Given the description of an element on the screen output the (x, y) to click on. 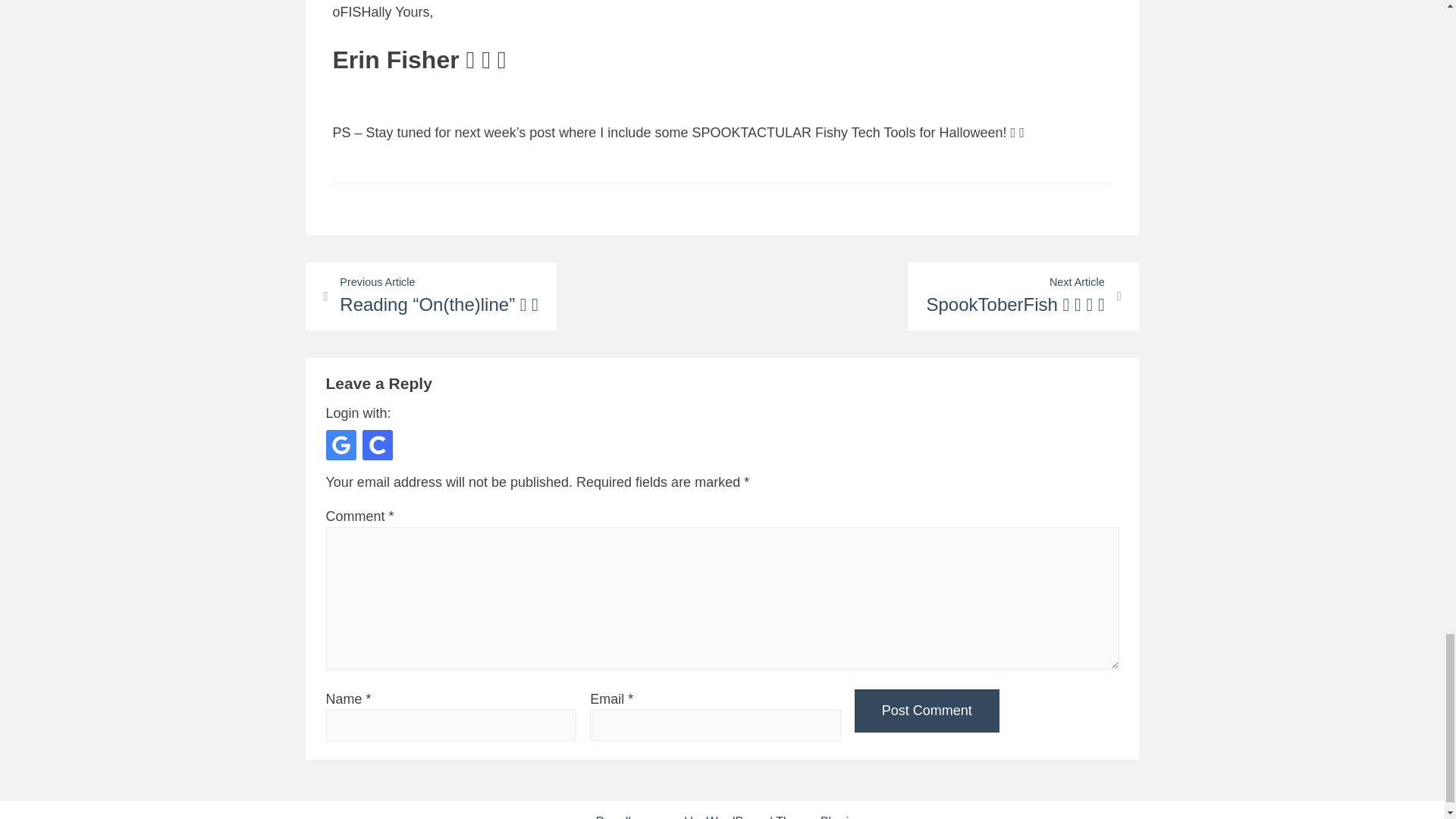
Continue with Clever (377, 444)
Post Comment (926, 710)
Continue with Google (341, 444)
Post Comment (926, 710)
